Given the description of an element on the screen output the (x, y) to click on. 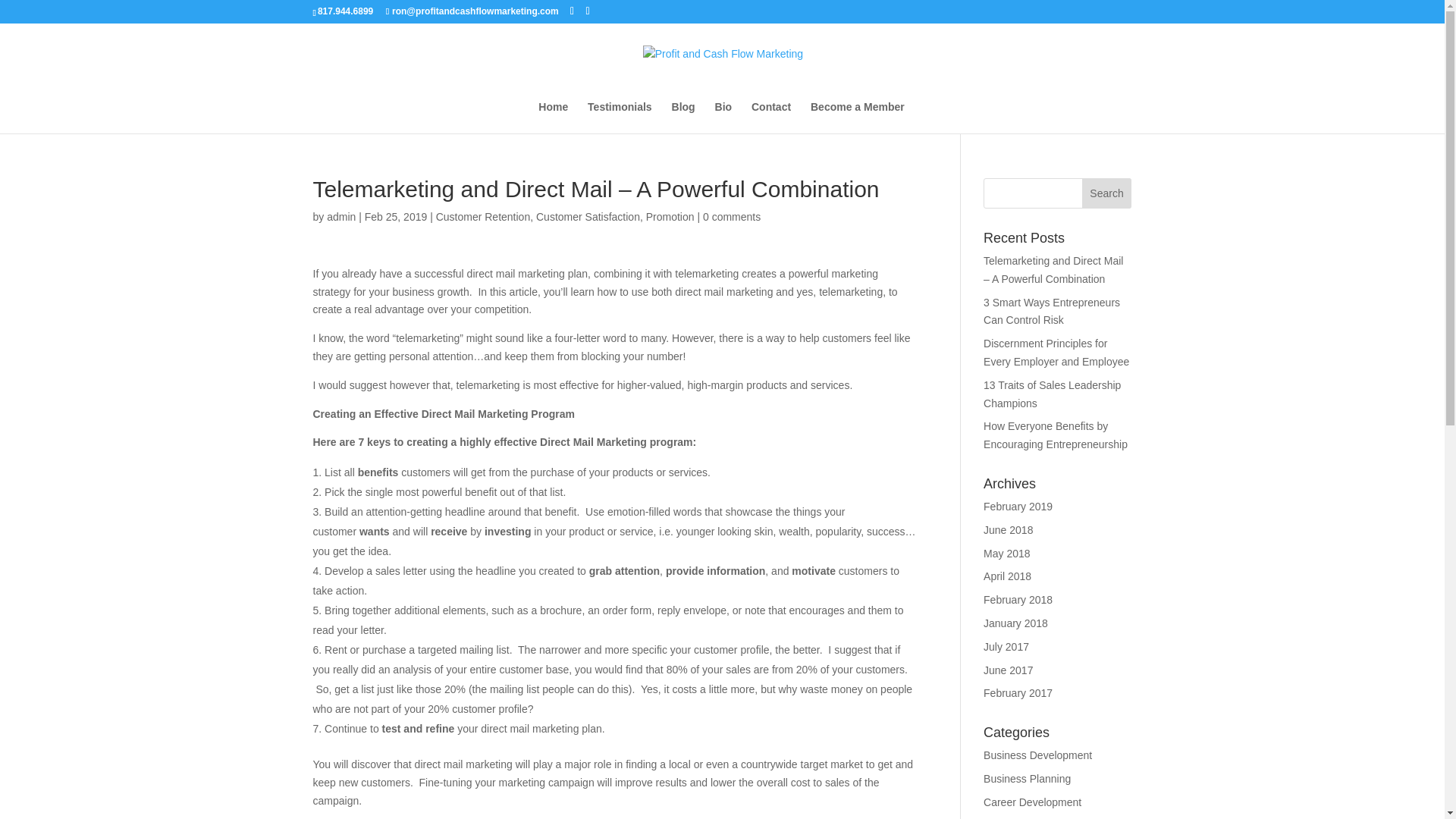
Become a Member (857, 117)
February 2019 (1018, 506)
January 2018 (1016, 623)
Home (552, 117)
How Everyone Benefits by Encouraging Entrepreneurship (1055, 435)
Business Planning (1027, 778)
Customer Retention (483, 216)
June 2017 (1008, 670)
May 2018 (1006, 553)
Search (1106, 193)
